Given the description of an element on the screen output the (x, y) to click on. 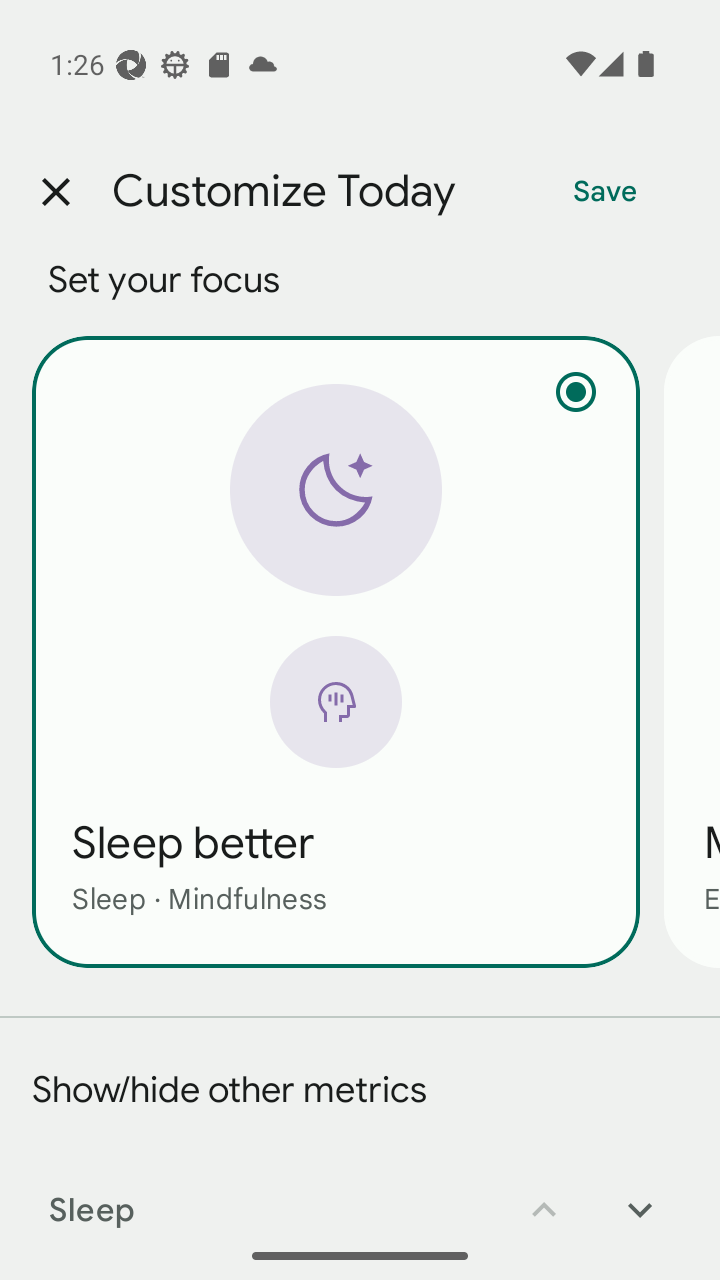
Close (55, 191)
Save (605, 191)
Sleep better Sleep · Mindfulness (335, 651)
Move Sleep up (543, 1196)
Move Sleep down (639, 1196)
